Given the description of an element on the screen output the (x, y) to click on. 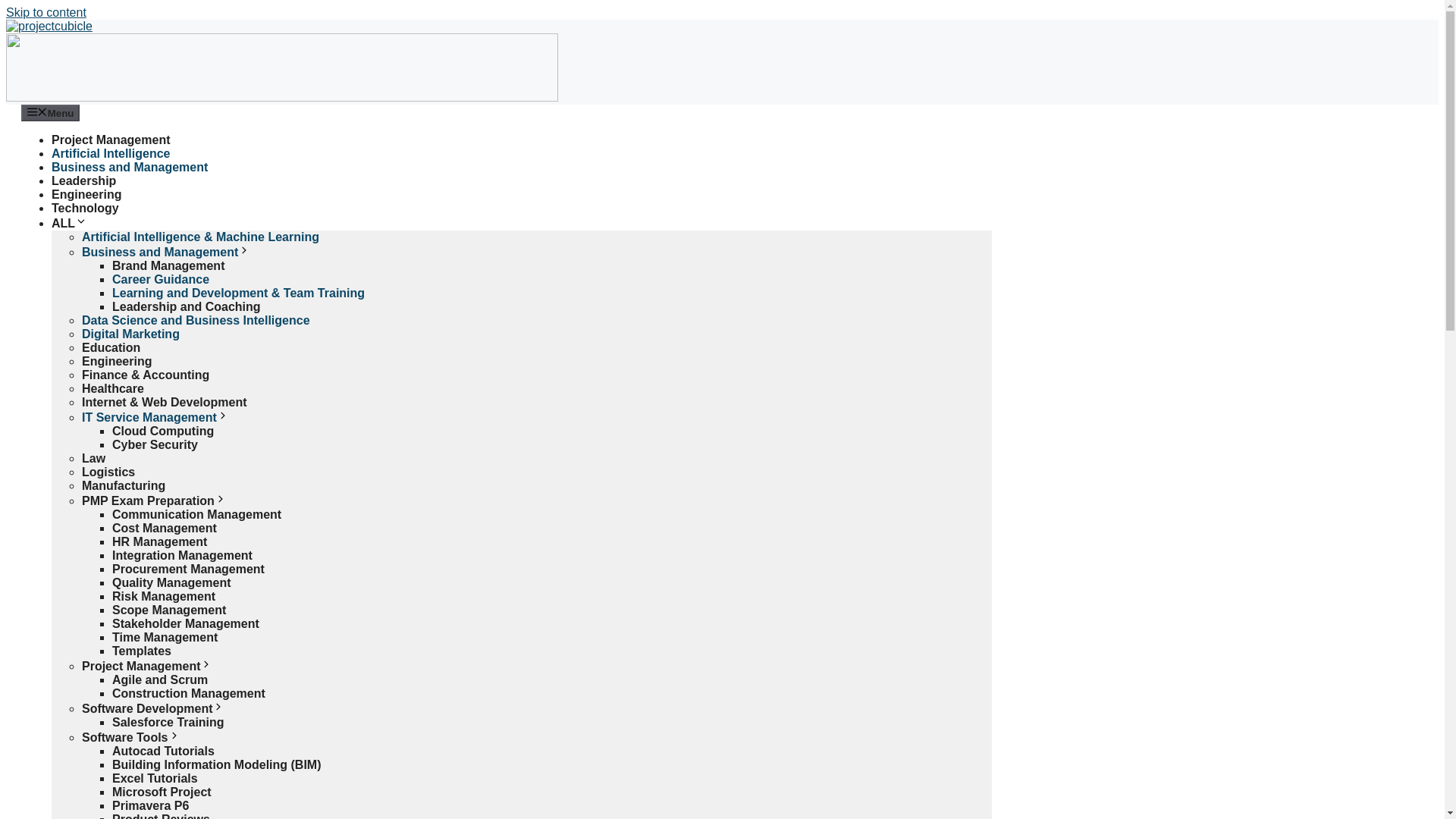
Brand Management (168, 265)
Quality Management (171, 582)
Leadership (83, 180)
ALL (68, 223)
Artificial Intelligence (110, 153)
Cyber Security (155, 444)
Risk Management (163, 595)
Cloud Computing (163, 431)
Skip to content (45, 11)
Technology (84, 207)
